Given the description of an element on the screen output the (x, y) to click on. 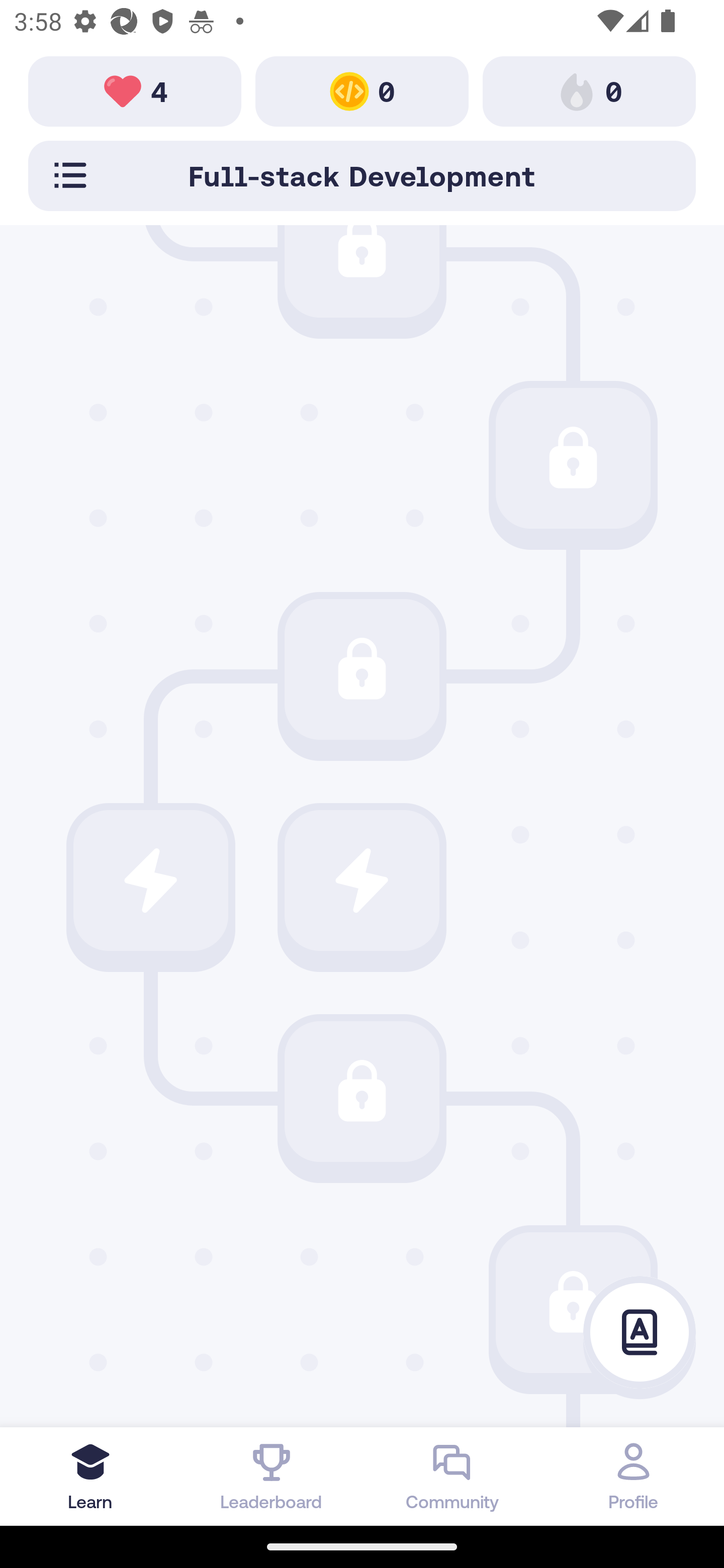
Path Toolbar Image 4 (134, 90)
Path Toolbar Image 0 (361, 90)
Path Toolbar Image 0 (588, 90)
Path Toolbar Selector Full-stack Development (361, 175)
Path Icon (361, 271)
Path Icon (572, 457)
Path Icon (361, 669)
Path Icon (150, 880)
Path Icon (361, 880)
Path Icon (361, 1090)
Path Icon (572, 1302)
Glossary Icon (639, 1332)
Leaderboard (271, 1475)
Community (452, 1475)
Profile (633, 1475)
